Given the description of an element on the screen output the (x, y) to click on. 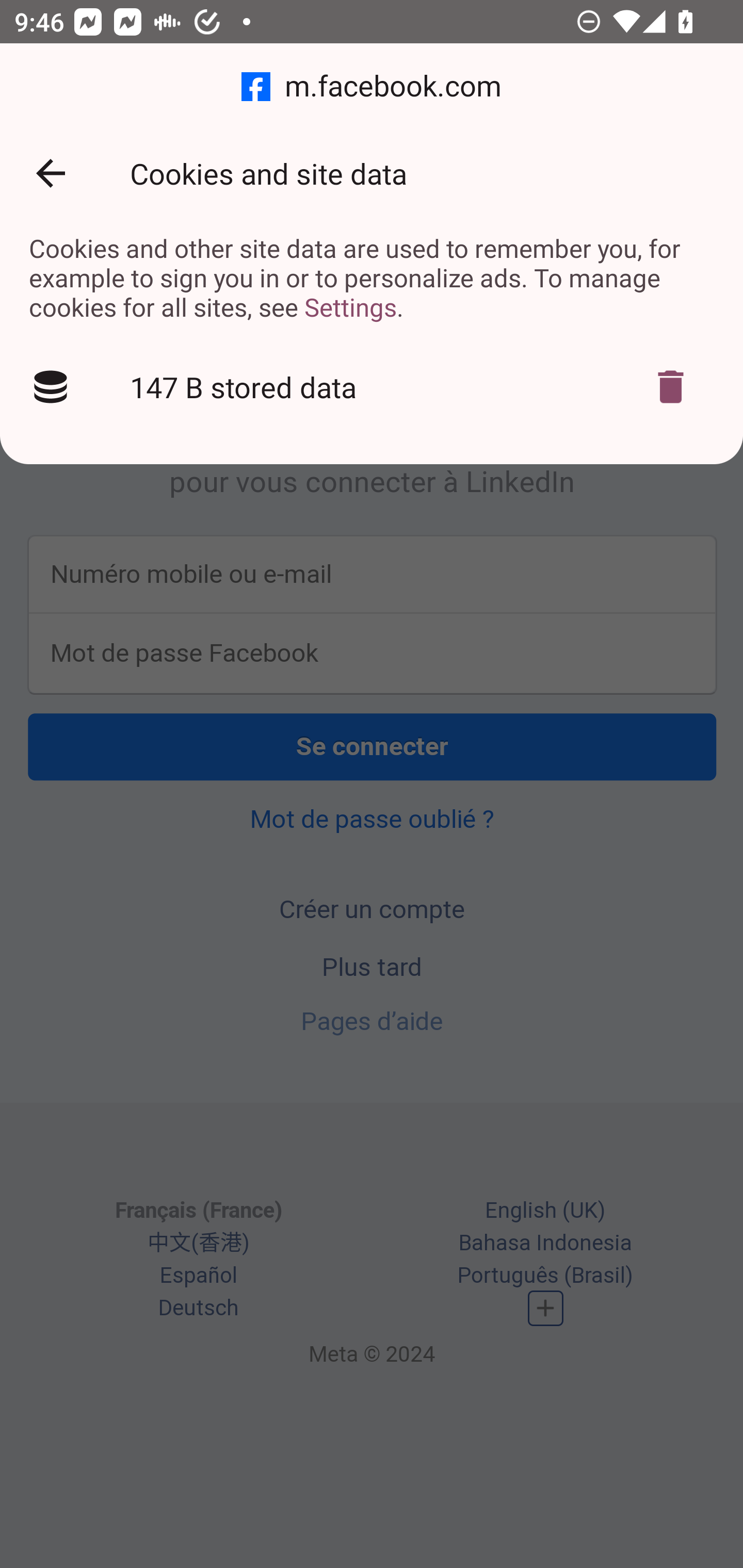
m.facebook.com (371, 86)
Back (50, 173)
147 B stored data Delete cookies? (371, 386)
